Given the description of an element on the screen output the (x, y) to click on. 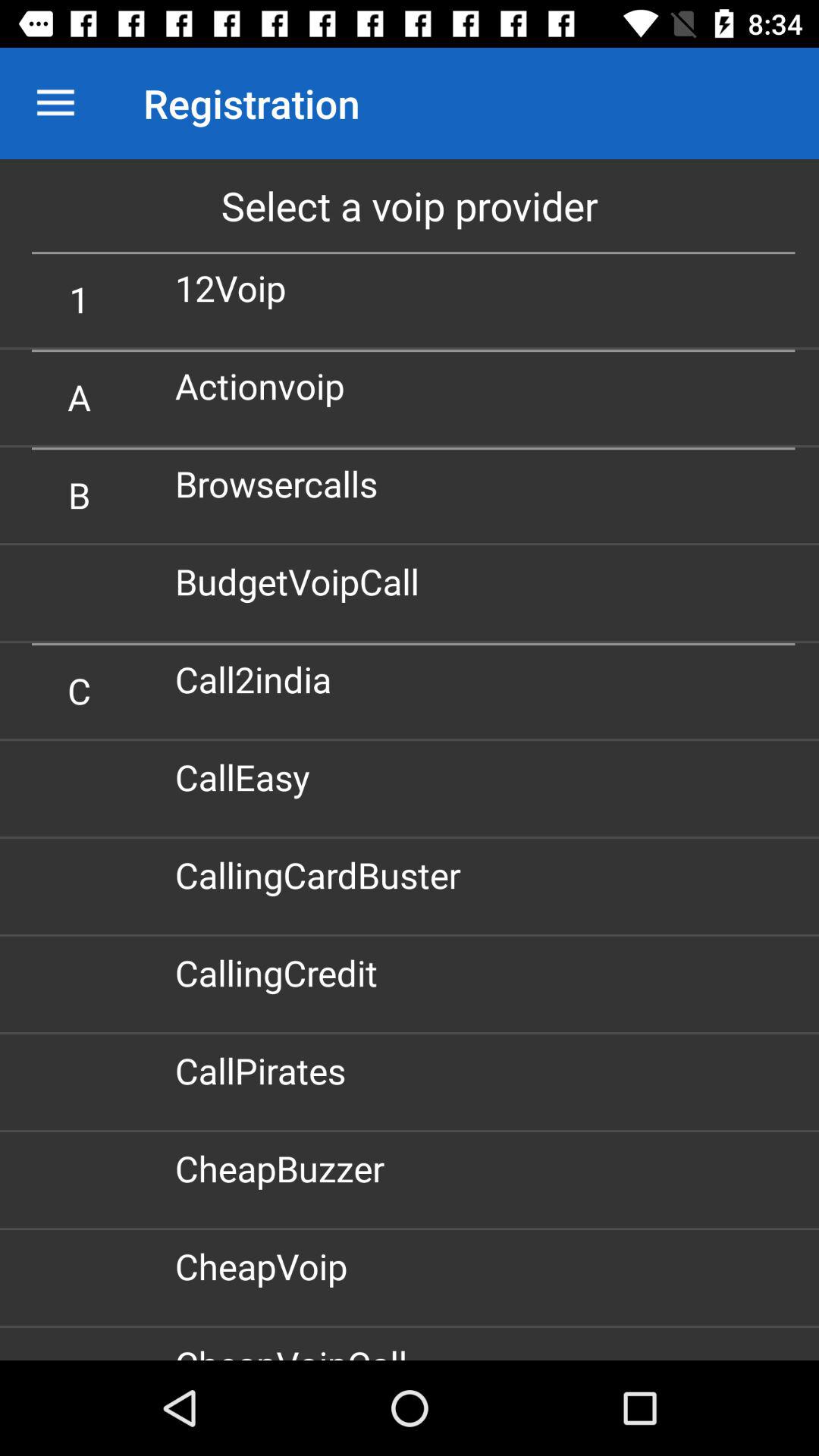
tap item to the left of browsercalls icon (79, 494)
